Given the description of an element on the screen output the (x, y) to click on. 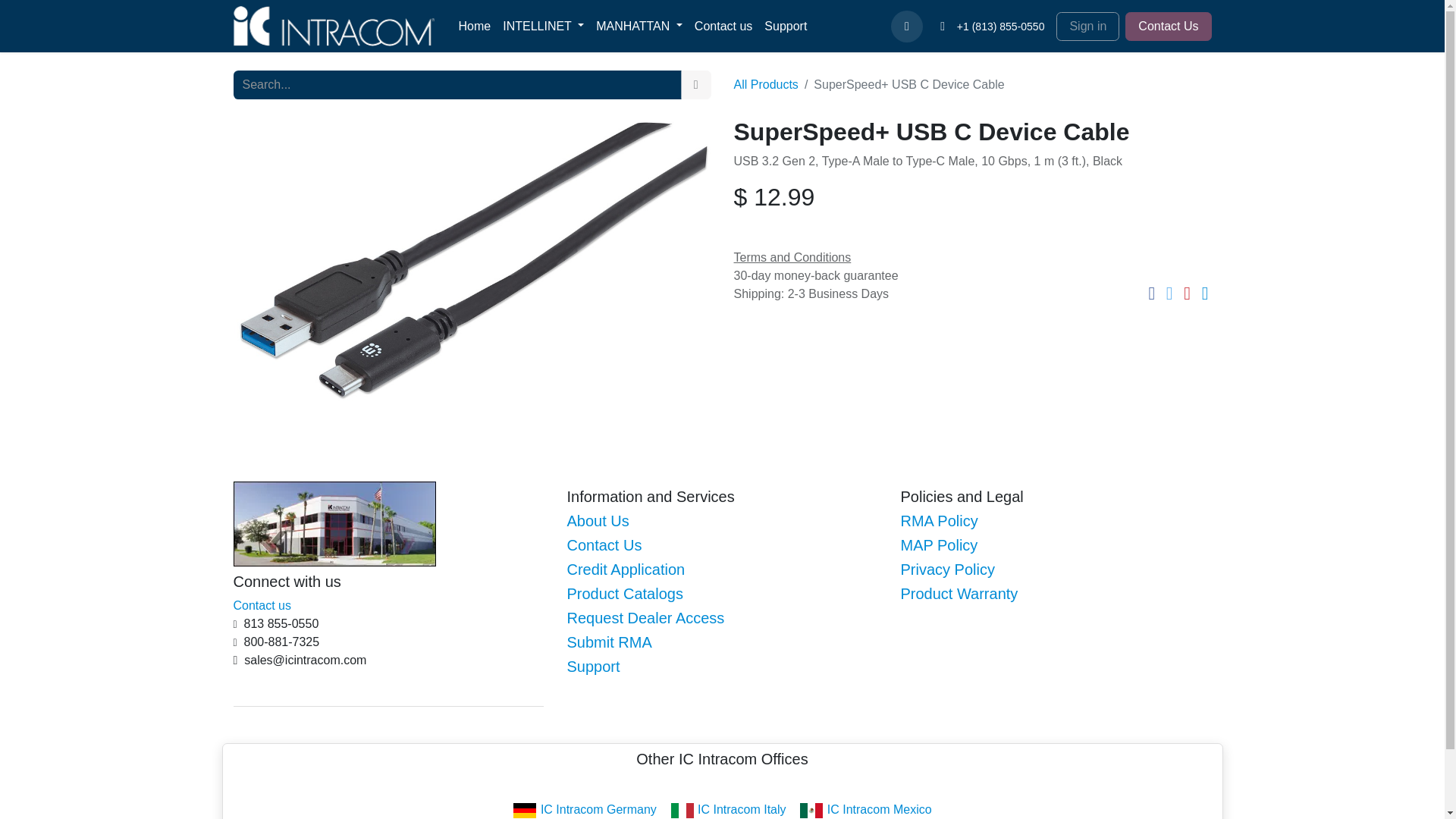
Home (473, 25)
MANHATTAN (638, 25)
IC Intracom USA Inc. (332, 25)
INTELLINET (542, 25)
